Given the description of an element on the screen output the (x, y) to click on. 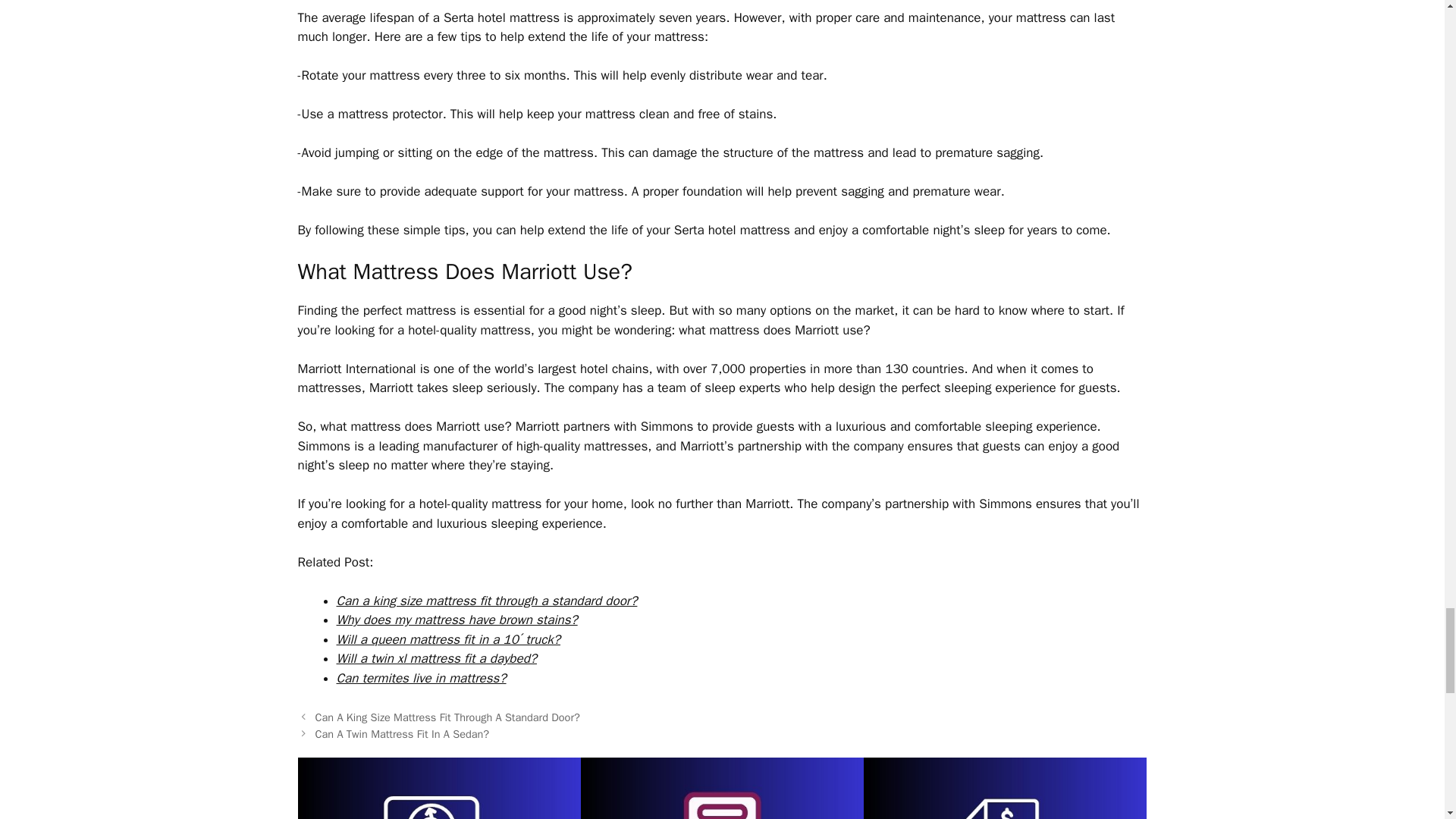
Will a twin xl mattress fit a daybed? (436, 658)
Can a king size mattress fit through a standard door? (486, 600)
Can termites live in mattress? (421, 678)
Why does my mattress have brown stains? (457, 619)
